Given the description of an element on the screen output the (x, y) to click on. 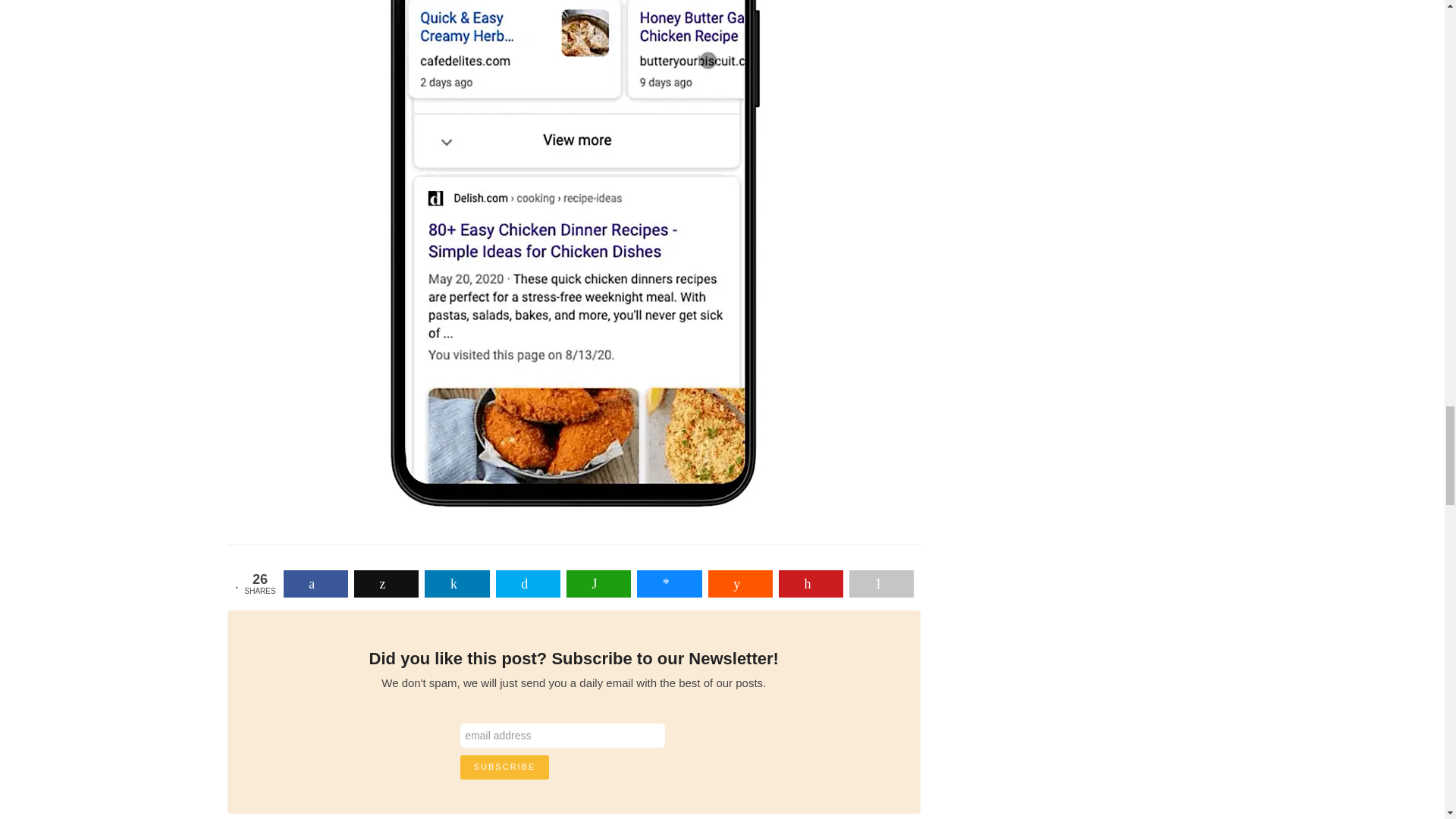
Subscribe (505, 767)
